Given the description of an element on the screen output the (x, y) to click on. 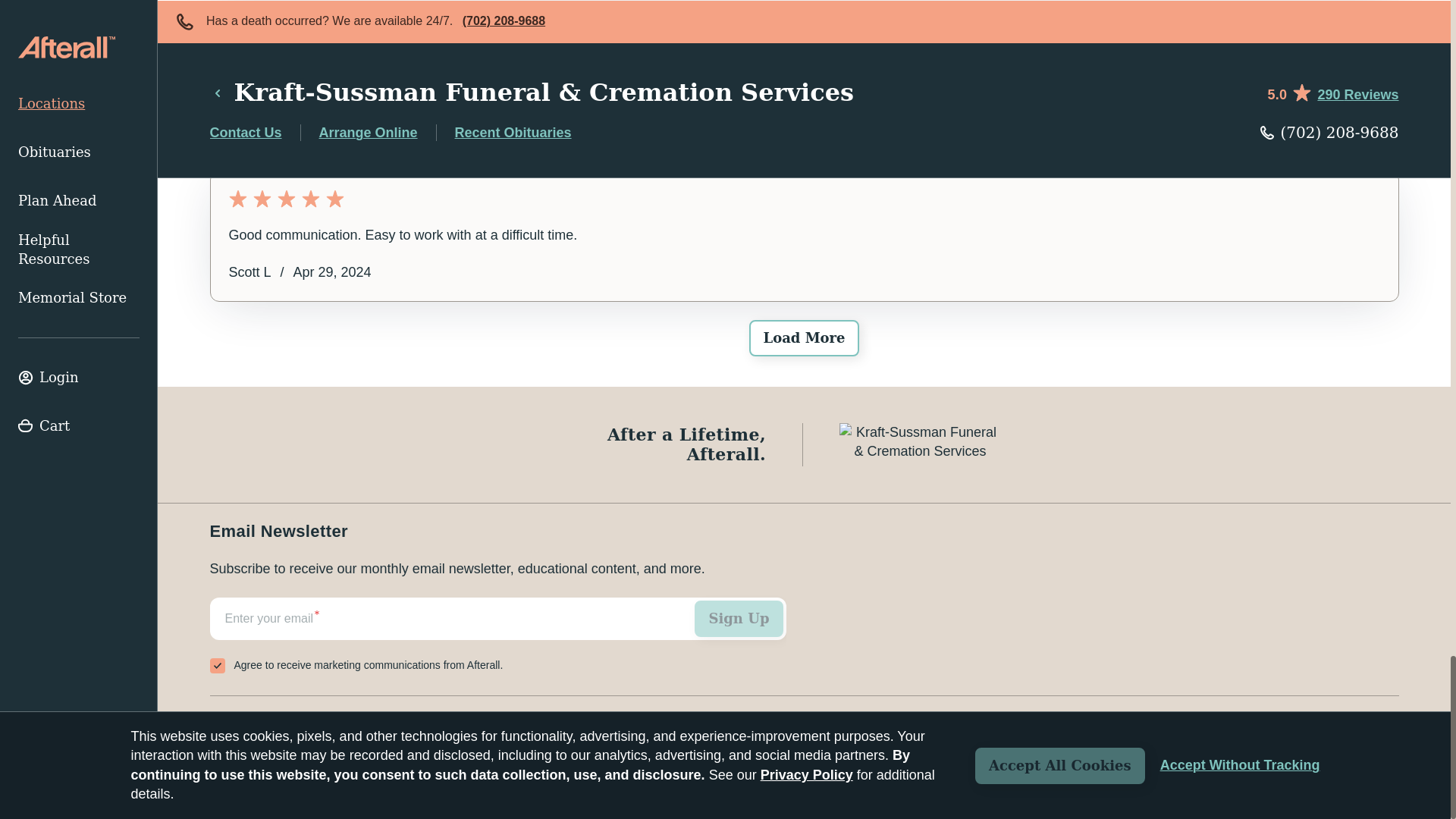
5 out of 5 Customer Rating (804, 198)
5 out of 5 Customer Rating (804, 31)
